Given the description of an element on the screen output the (x, y) to click on. 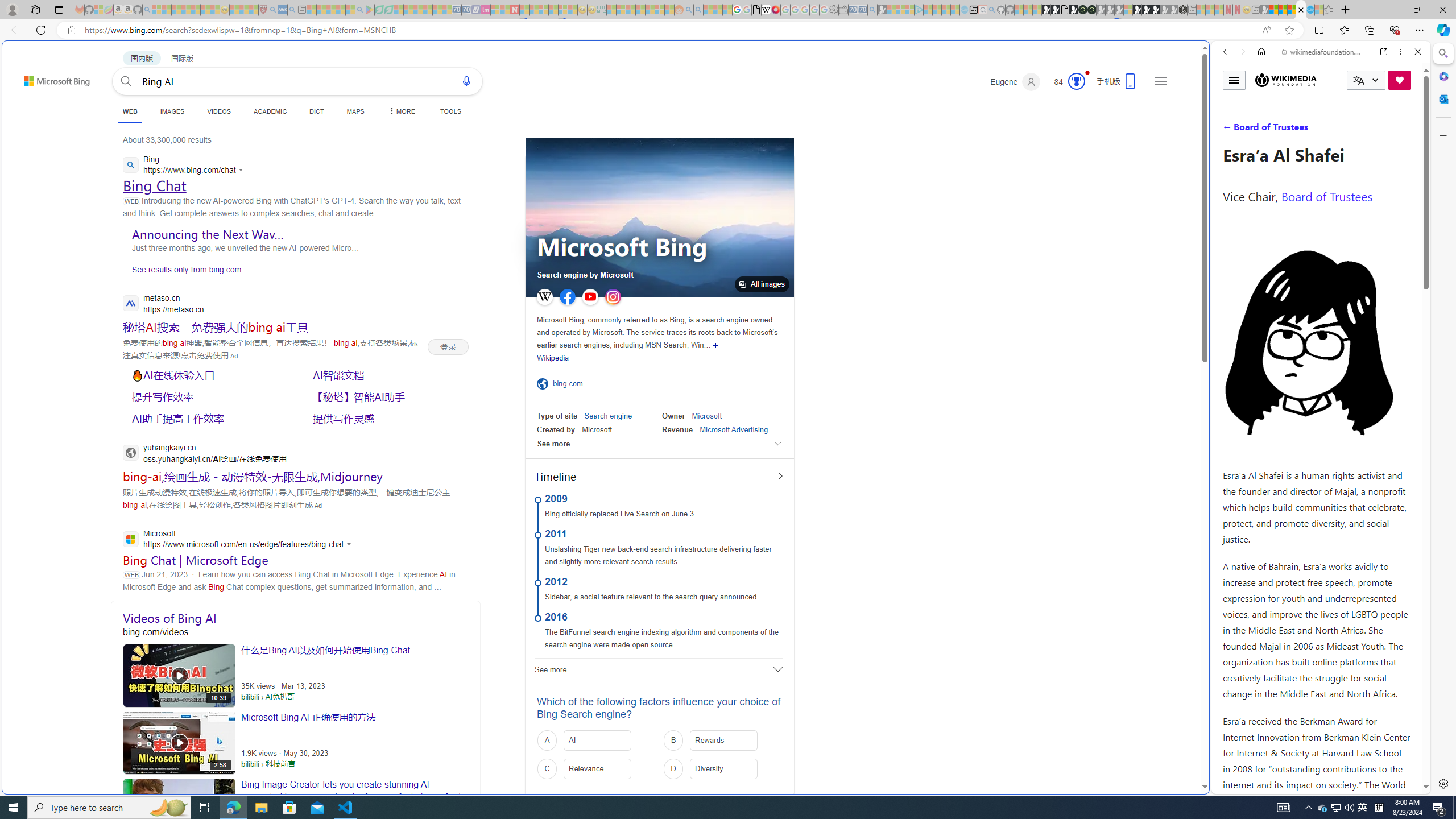
This site scope (1259, 102)
utah sues federal government - Search - Sleeping (291, 9)
Bluey: Let's Play! - Apps on Google Play - Sleeping (369, 9)
Search the web (1326, 78)
The Weather Channel - MSN - Sleeping (175, 9)
Search or enter web address (922, 108)
WEB (129, 112)
Local - MSN - Sleeping (253, 9)
